Given the description of an element on the screen output the (x, y) to click on. 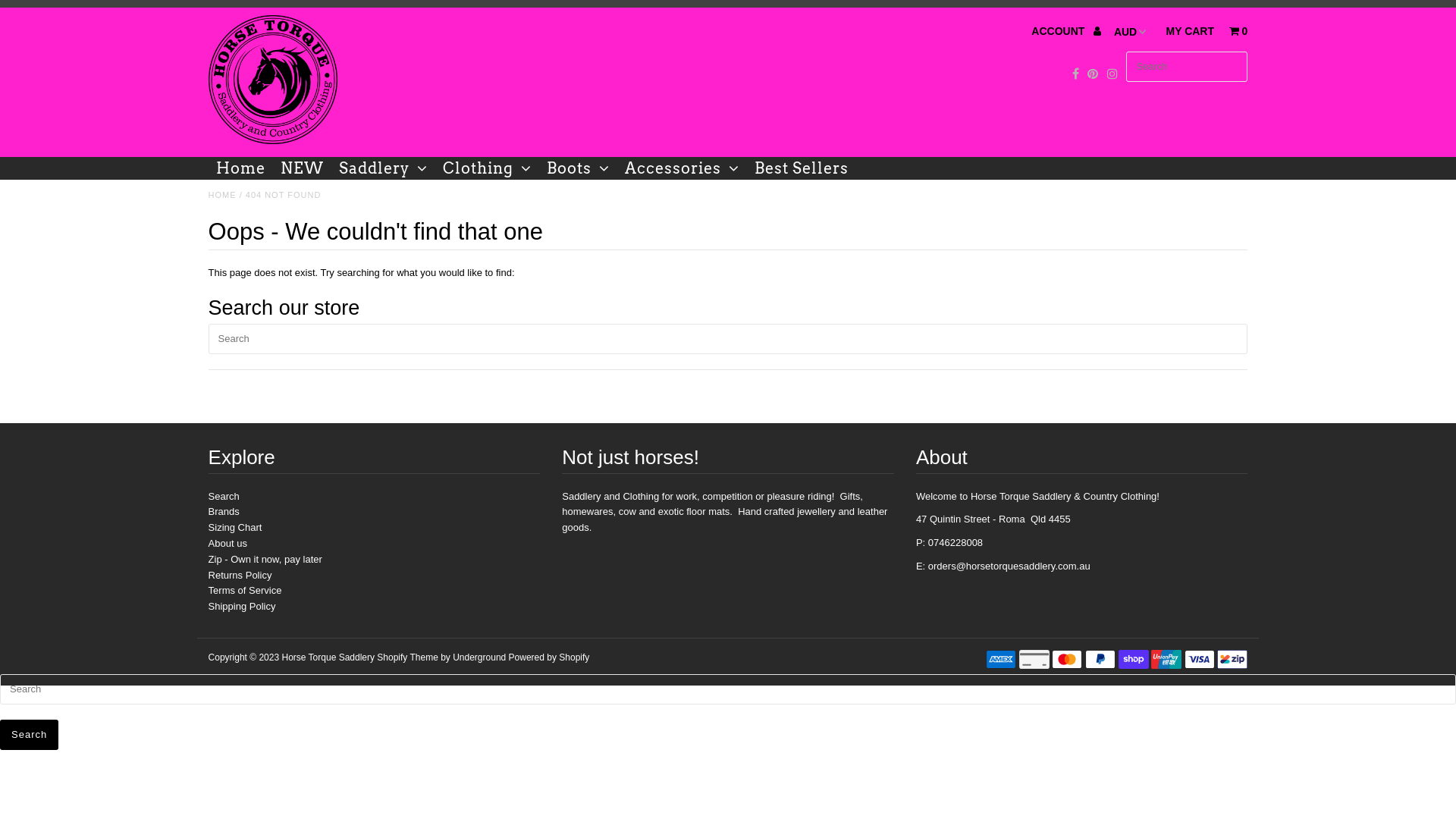
Powered by Shopify Element type: text (548, 657)
Terms of Service Element type: text (245, 590)
Saddlery Element type: text (383, 167)
Sizing Chart Element type: text (235, 527)
Home Element type: text (240, 167)
Zip - Own it now, pay later Element type: text (265, 558)
Search Element type: text (223, 496)
NEW Element type: text (302, 167)
Brands Element type: text (223, 511)
Accessories Element type: text (681, 167)
Returns Policy Element type: text (240, 574)
HOME Element type: text (222, 194)
Shipping Policy Element type: text (242, 605)
Best Sellers Element type: text (801, 167)
About us Element type: text (227, 543)
Boots Element type: text (578, 167)
Shopify Theme Element type: text (407, 657)
ACCOUNT Element type: text (1066, 30)
MY CART   0 Element type: text (1207, 30)
Search Element type: text (29, 734)
Horse Torque Saddlery Element type: text (327, 657)
Clothing Element type: text (487, 167)
